Given the description of an element on the screen output the (x, y) to click on. 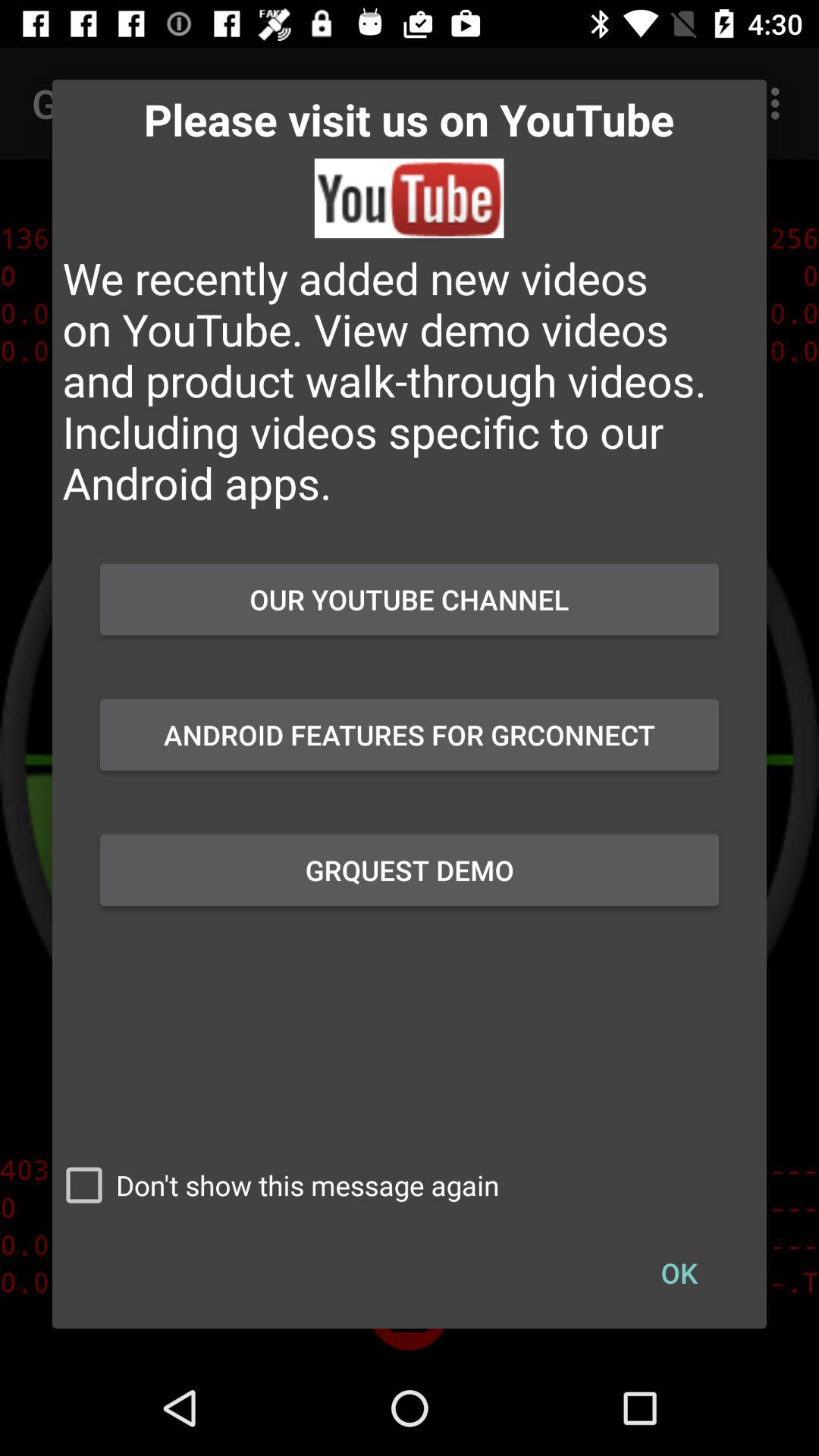
launch the ok icon (678, 1272)
